Given the description of an element on the screen output the (x, y) to click on. 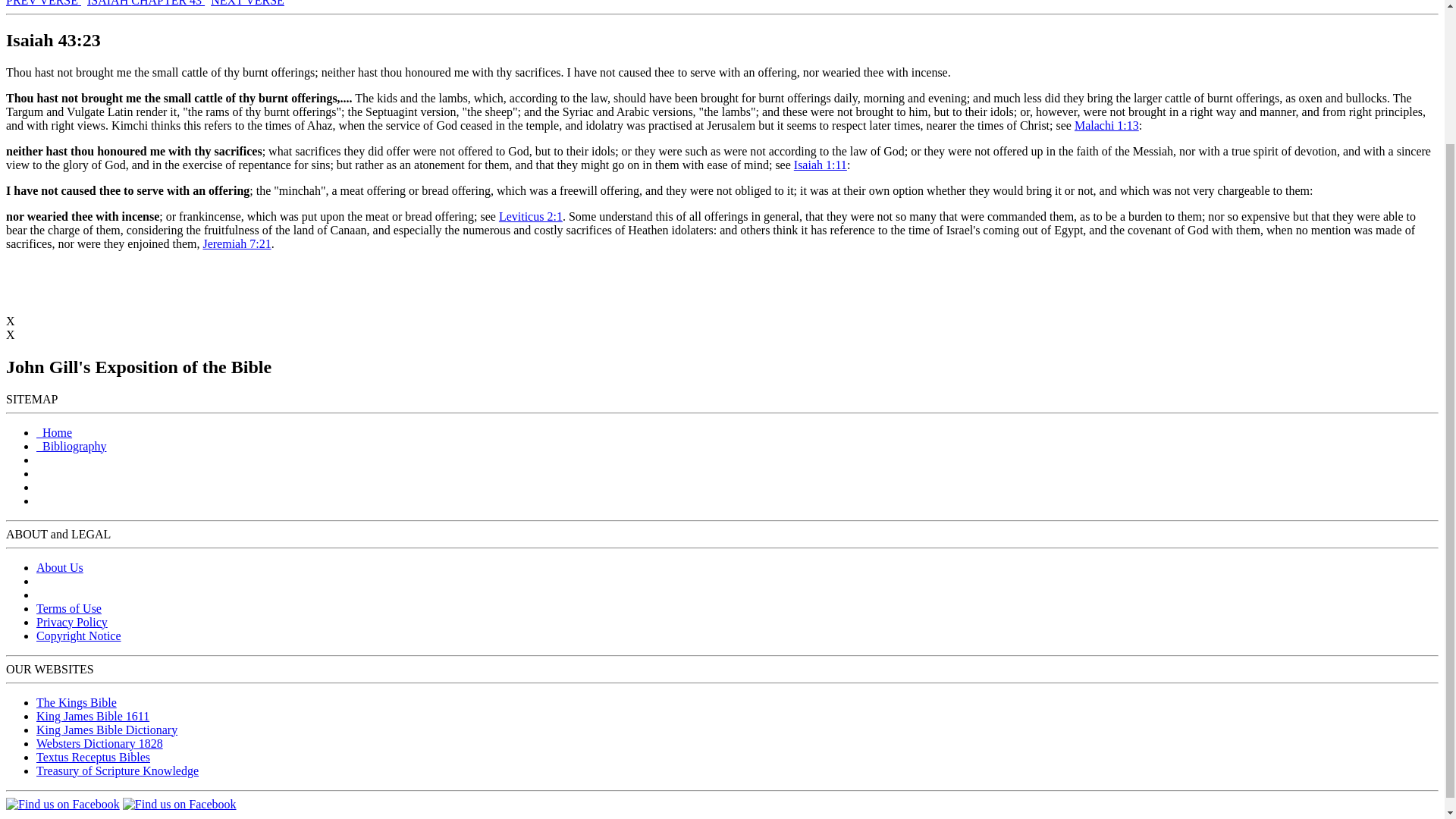
Leviticus 2:1 (530, 215)
NEXT VERSE (247, 3)
Terms of Use (68, 608)
King James Bible 1611 (92, 716)
CHAPTER 43 (168, 3)
  Bibliography (71, 445)
  Home (53, 431)
Malachi 1:13 (1106, 124)
About Us (59, 567)
Websters Dictionary 1828 (99, 743)
Privacy Policy (71, 621)
Jeremiah 7:21 (236, 243)
The Kings Bible (76, 702)
Isaiah 1:11 (820, 164)
Treasury of Scripture Knowledge (117, 770)
